Given the description of an element on the screen output the (x, y) to click on. 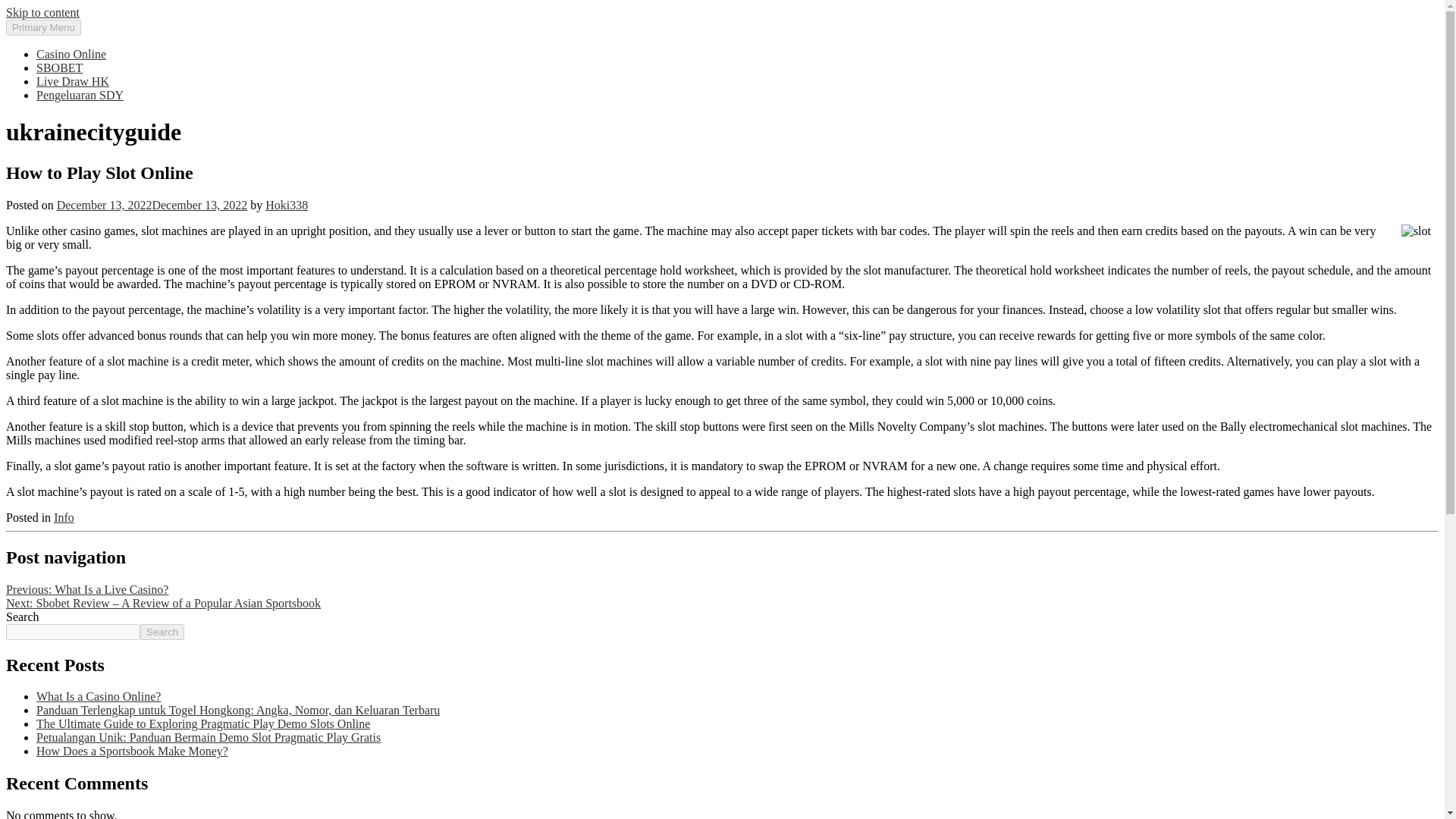
December 13, 2022December 13, 2022 (151, 205)
Search (161, 631)
Info (63, 517)
Live Draw HK (72, 81)
Casino Online (71, 53)
Pengeluaran SDY (79, 94)
SBOBET (59, 67)
Hoki338 (285, 205)
What Is a Casino Online? (98, 696)
Skip to content (42, 11)
How Does a Sportsbook Make Money? (132, 750)
Primary Menu (43, 27)
